Given the description of an element on the screen output the (x, y) to click on. 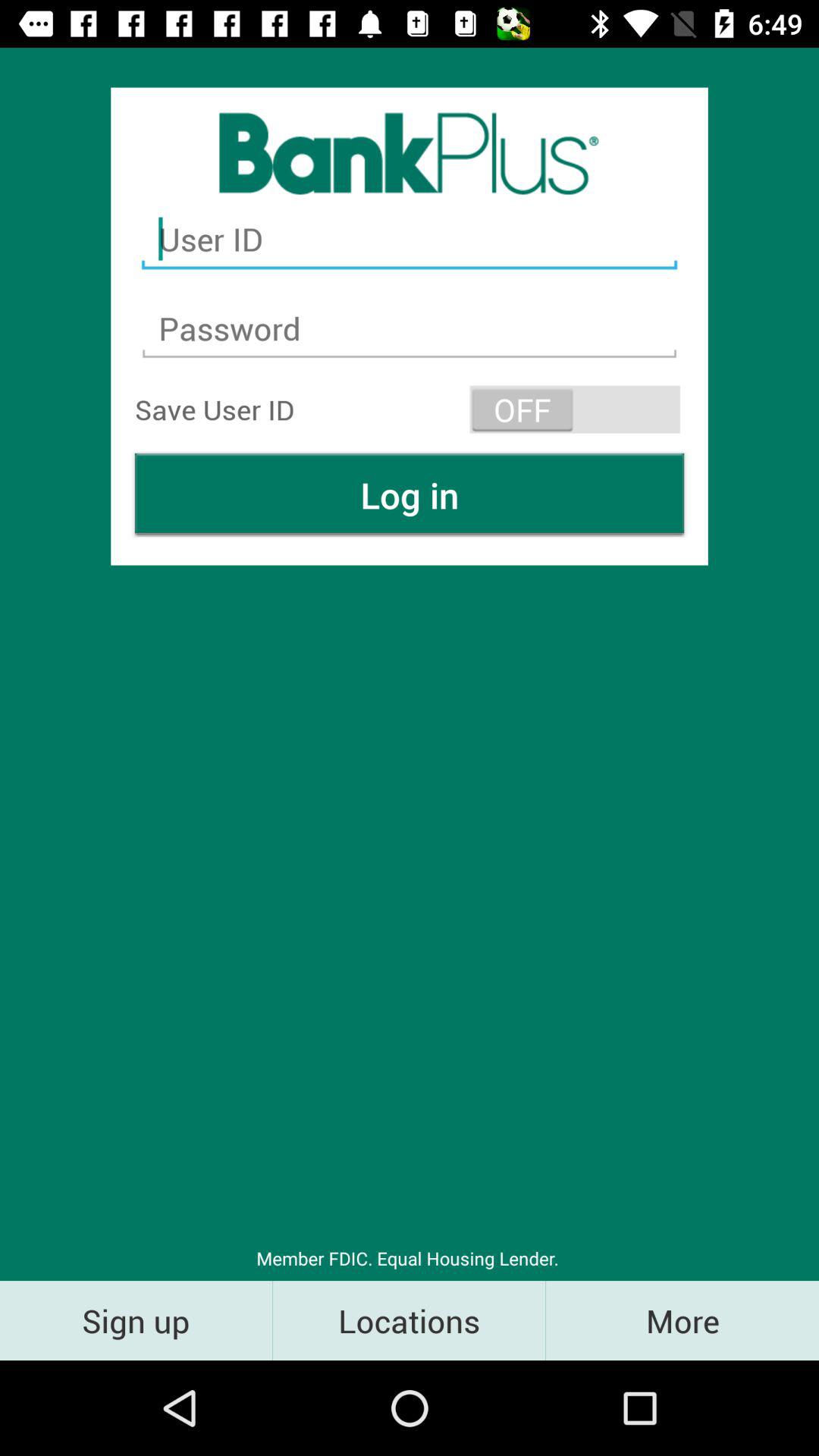
turn on the locations item (409, 1320)
